Given the description of an element on the screen output the (x, y) to click on. 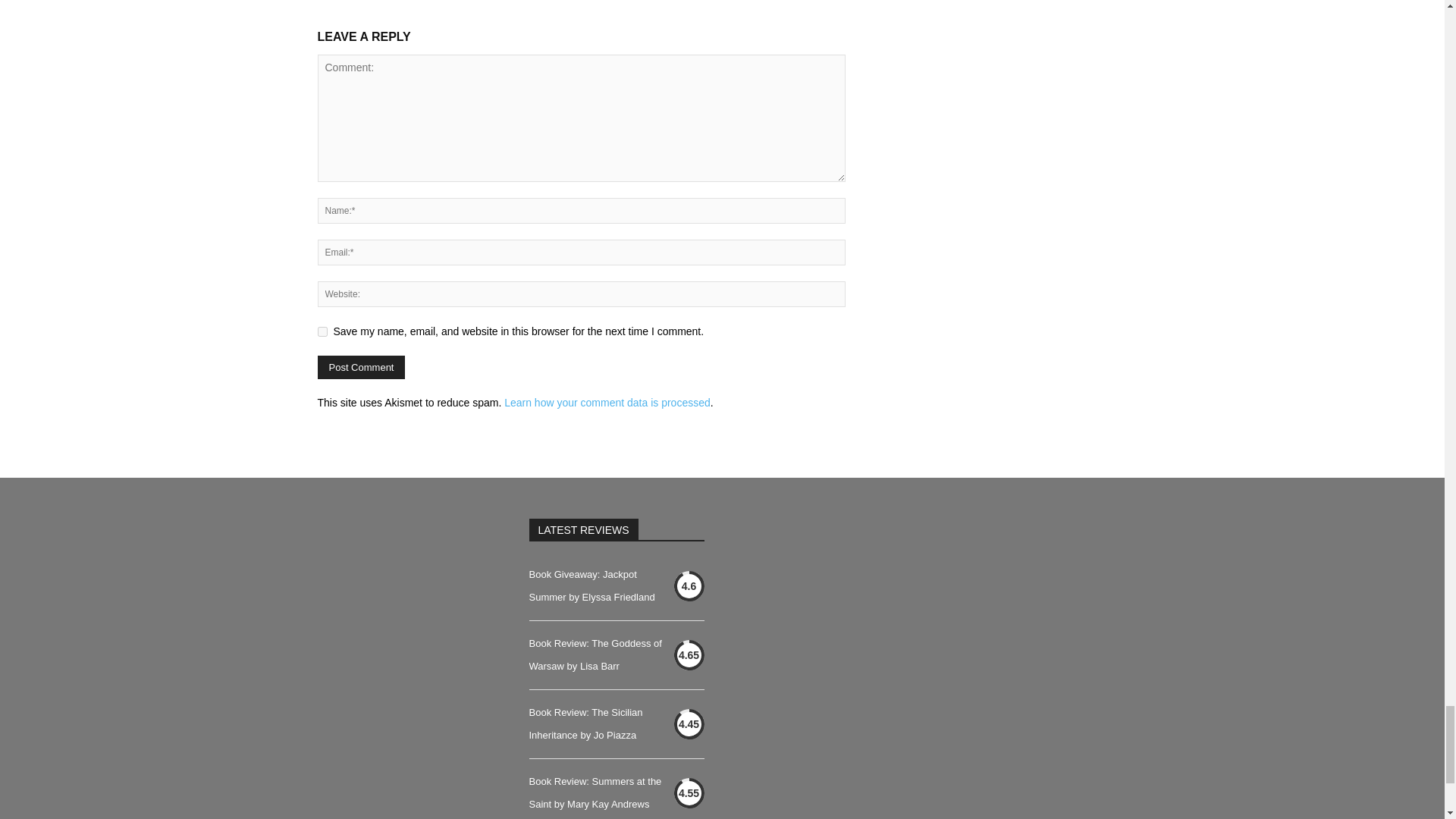
Post Comment (360, 367)
yes (321, 331)
